Given the description of an element on the screen output the (x, y) to click on. 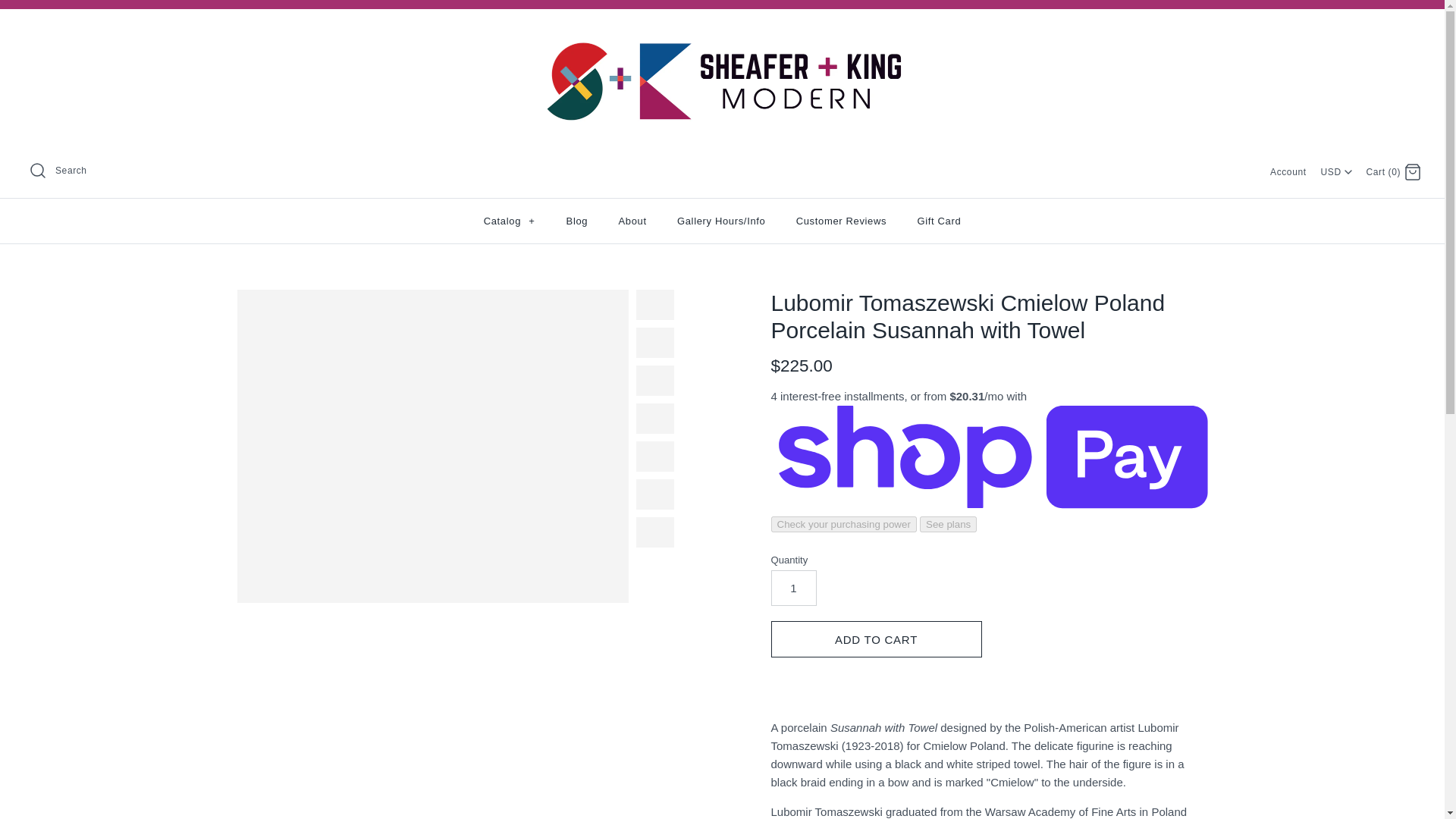
1 (792, 588)
Cart (1412, 171)
Gift Card (938, 221)
Add to Cart (875, 638)
Blog (577, 221)
Account (1287, 172)
Customer Reviews (842, 221)
Down (1348, 172)
